Given the description of an element on the screen output the (x, y) to click on. 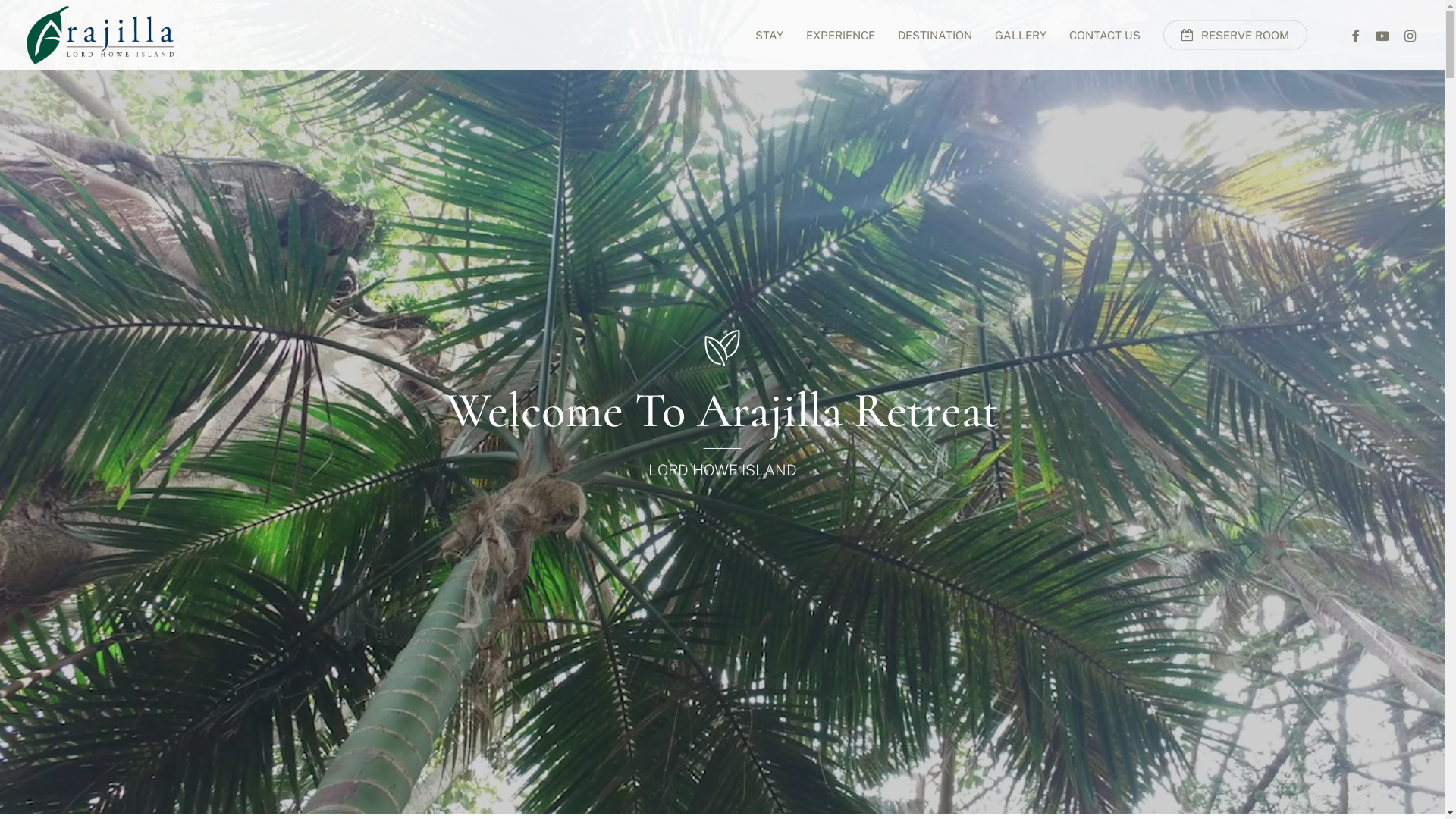
STAY Element type: text (769, 34)
GALLERY Element type: text (1020, 34)
RESERVE ROOM Element type: text (1235, 34)
FACEBOOK Element type: text (1354, 34)
INSTAGRAM Element type: text (1409, 34)
DESTINATION Element type: text (934, 34)
YOUTUBE Element type: text (1382, 34)
EXPERIENCE Element type: text (840, 34)
CONTACT US Element type: text (1104, 34)
